Given the description of an element on the screen output the (x, y) to click on. 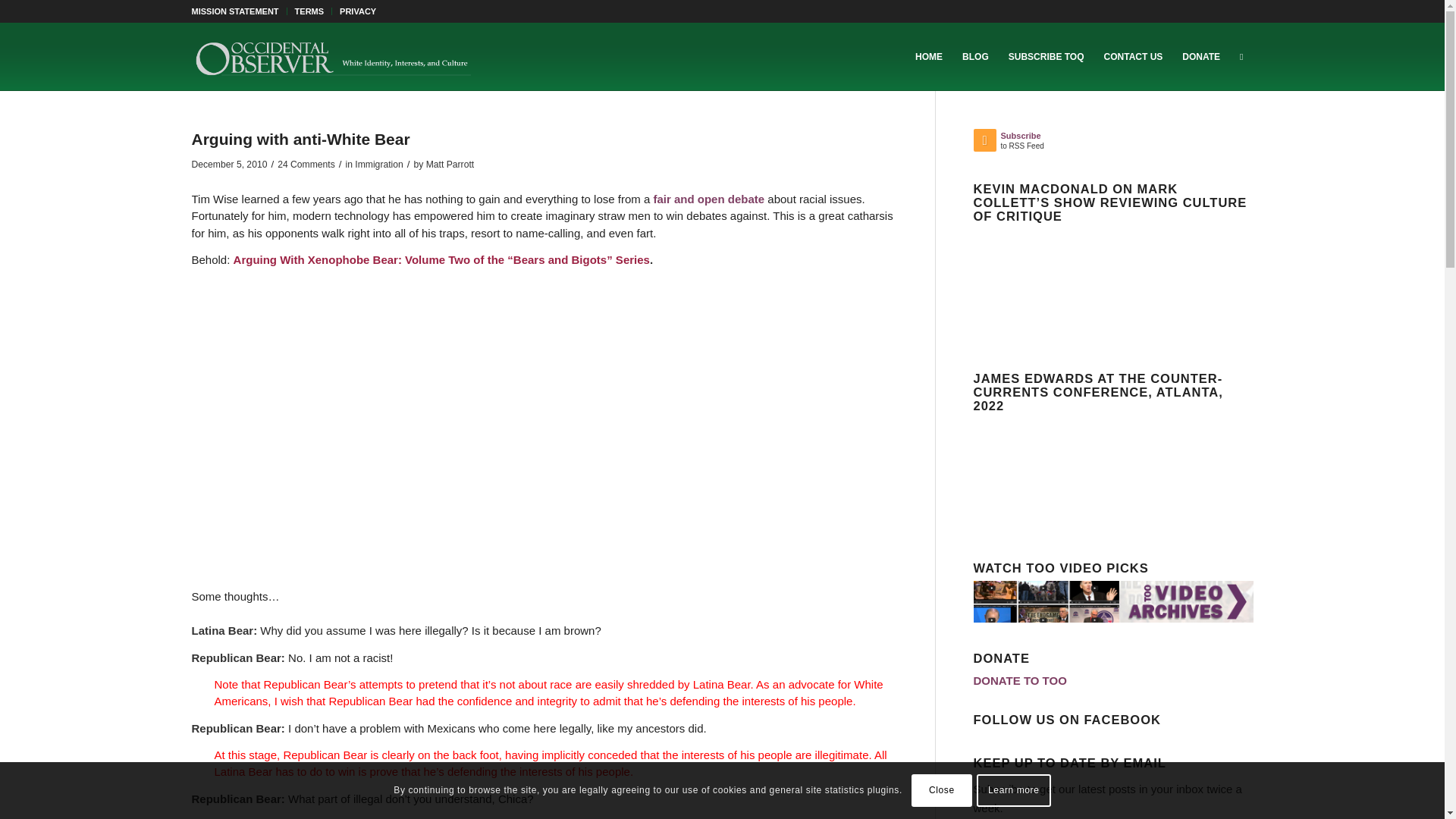
Posts by Matt Parrott (450, 163)
MISSION STATEMENT (234, 11)
PRIVACY (357, 11)
24 Comments (306, 163)
SUBSCRIBE TOQ (1046, 56)
CONTACT US (1133, 56)
Matt Parrott (450, 163)
TERMS (309, 11)
Immigration (379, 163)
fair and open debate (708, 198)
